Given the description of an element on the screen output the (x, y) to click on. 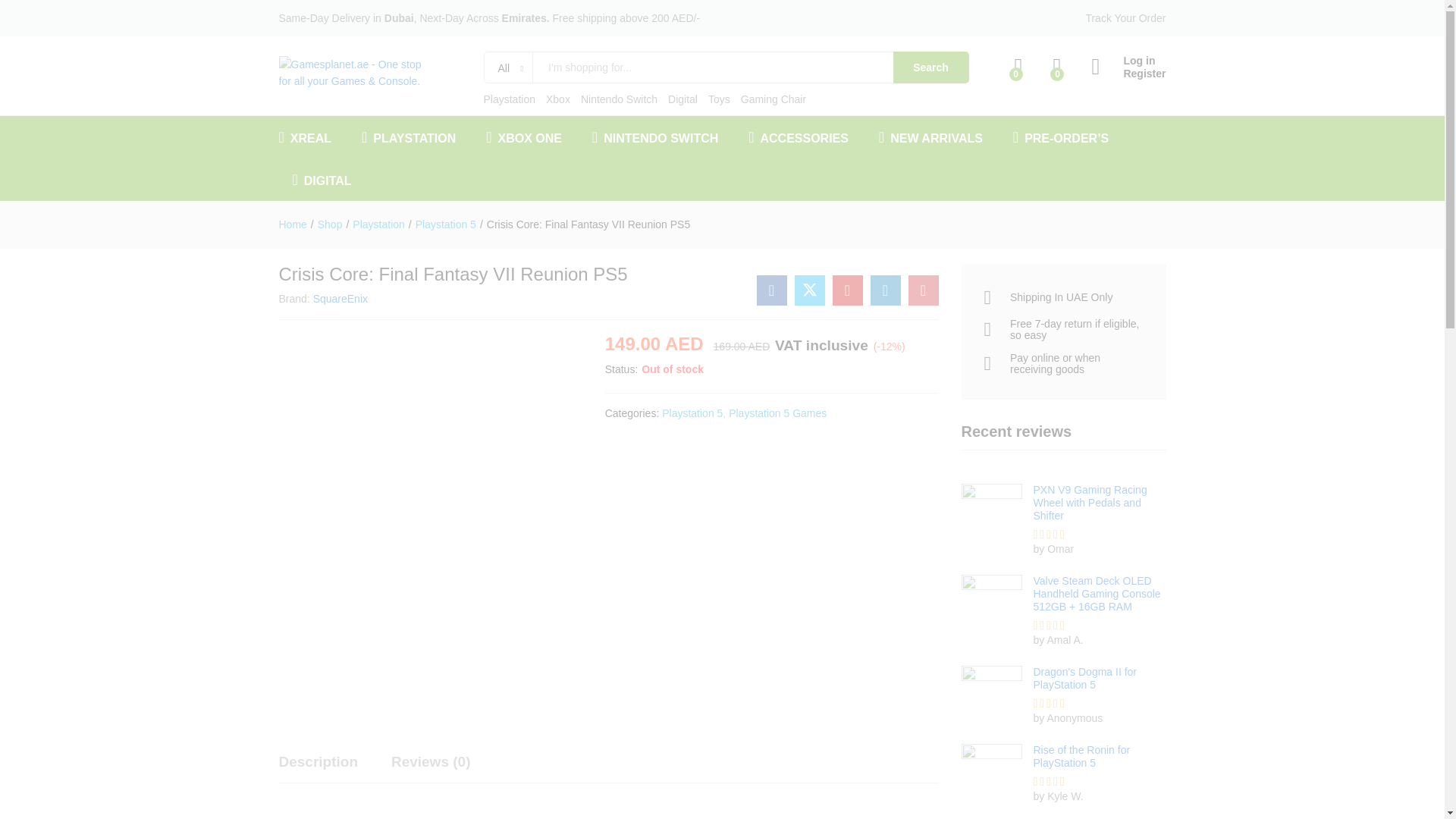
Nintendo Switch (619, 99)
Register (1128, 73)
Digital (682, 99)
Crisis Core: Final Fantasy VII Reunion PS5 (847, 290)
Playstation (509, 99)
Toys (718, 99)
Log in (1128, 60)
Track Your Order (1125, 18)
NINTENDO SWITCH (654, 136)
XBOX ONE (524, 136)
